Given the description of an element on the screen output the (x, y) to click on. 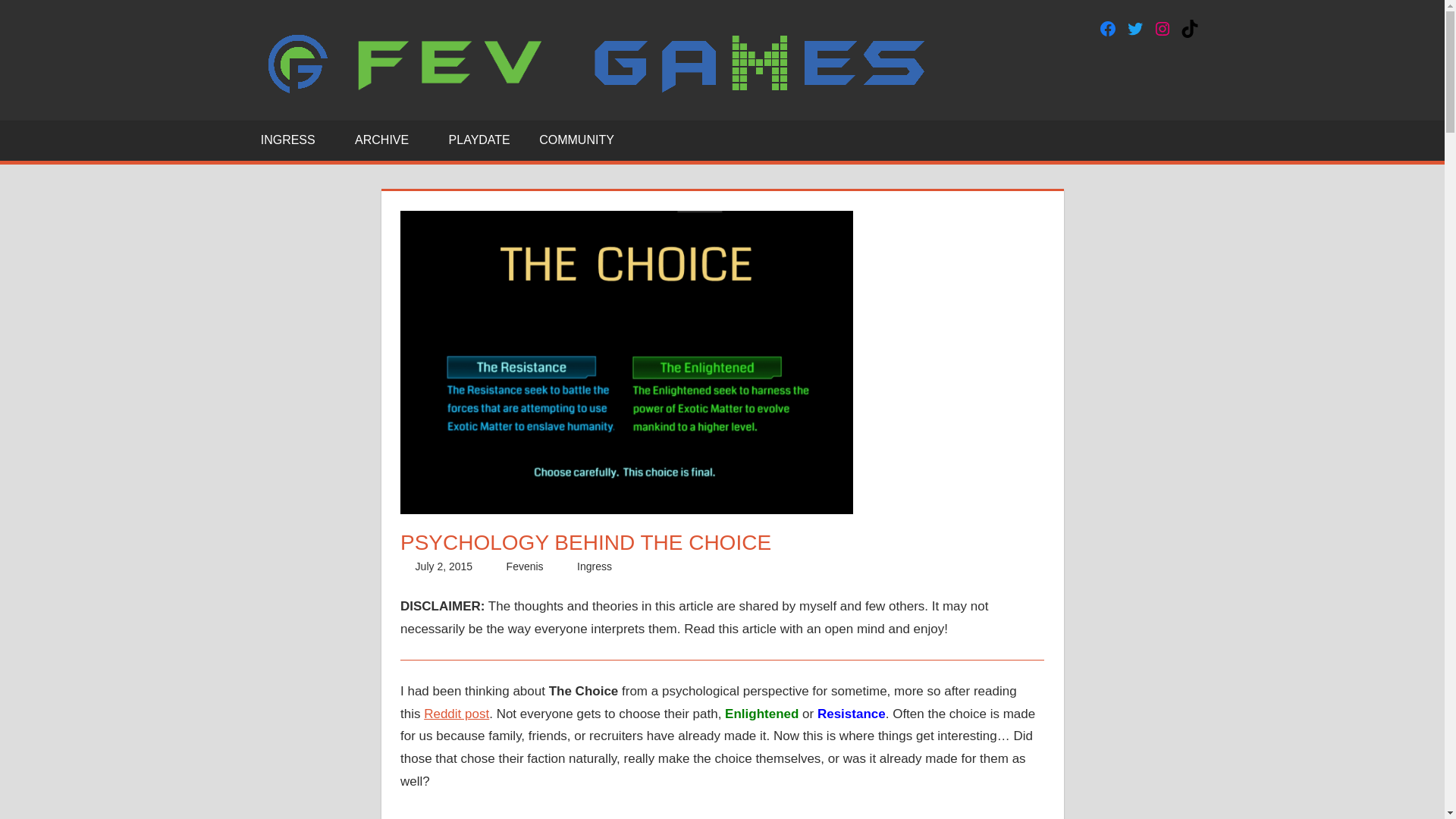
View all posts by Fevenis (524, 566)
Twitter (1133, 28)
INGRESS (292, 139)
Instagram (1161, 28)
Facebook (1106, 28)
TikTok (1188, 28)
2:19 pm (443, 566)
ARCHIVE (386, 139)
